Given the description of an element on the screen output the (x, y) to click on. 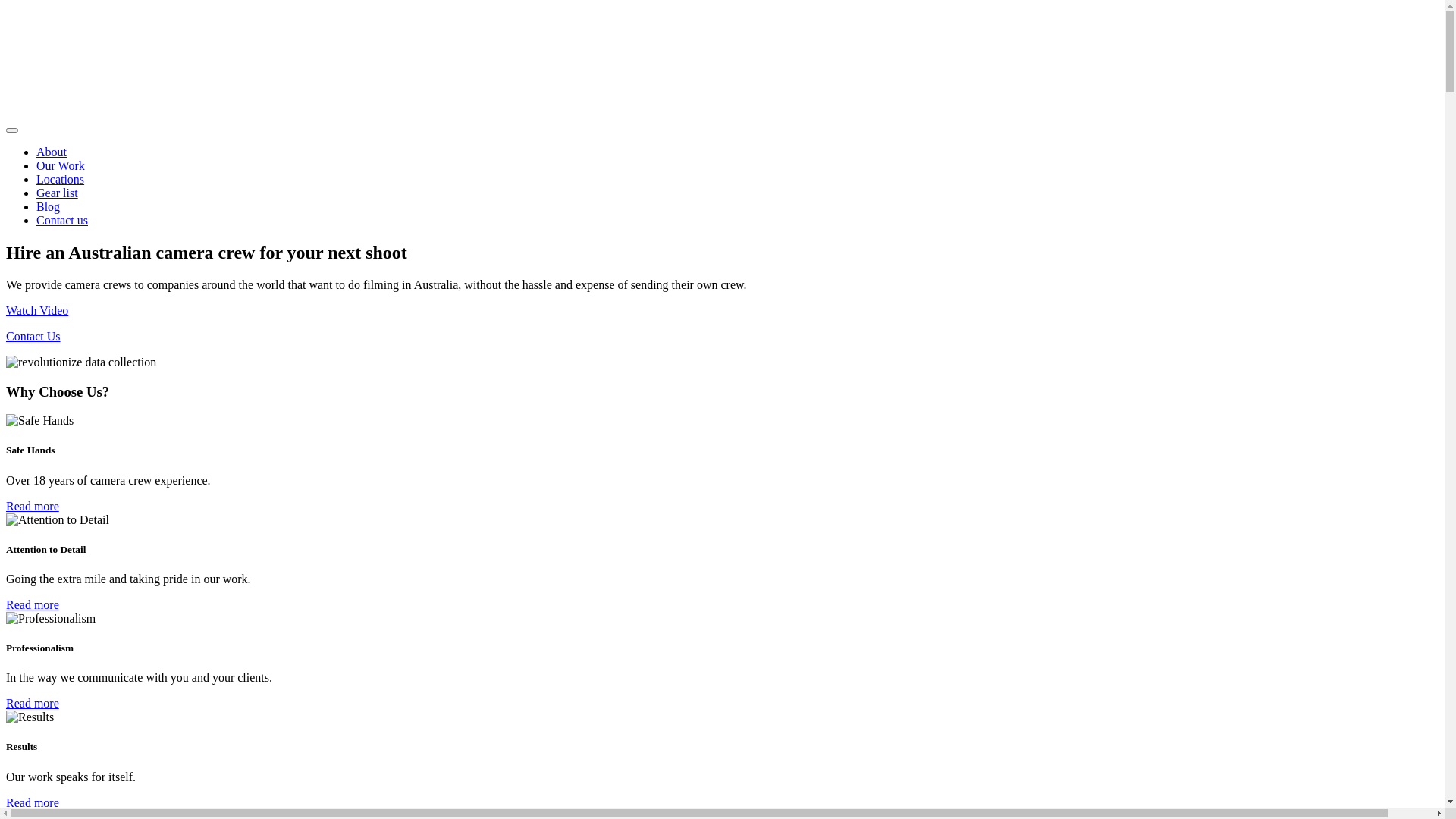
Our Work Element type: text (60, 165)
Locations Element type: text (60, 178)
About Element type: text (51, 151)
Contact us Element type: text (61, 219)
Blog Element type: text (47, 206)
Contact Us Element type: text (33, 335)
Read more Element type: text (32, 505)
Read more Element type: text (32, 702)
Gear list Element type: text (57, 192)
Read more Element type: text (32, 604)
Read more Element type: text (32, 802)
Watch Video Element type: text (37, 310)
